Given the description of an element on the screen output the (x, y) to click on. 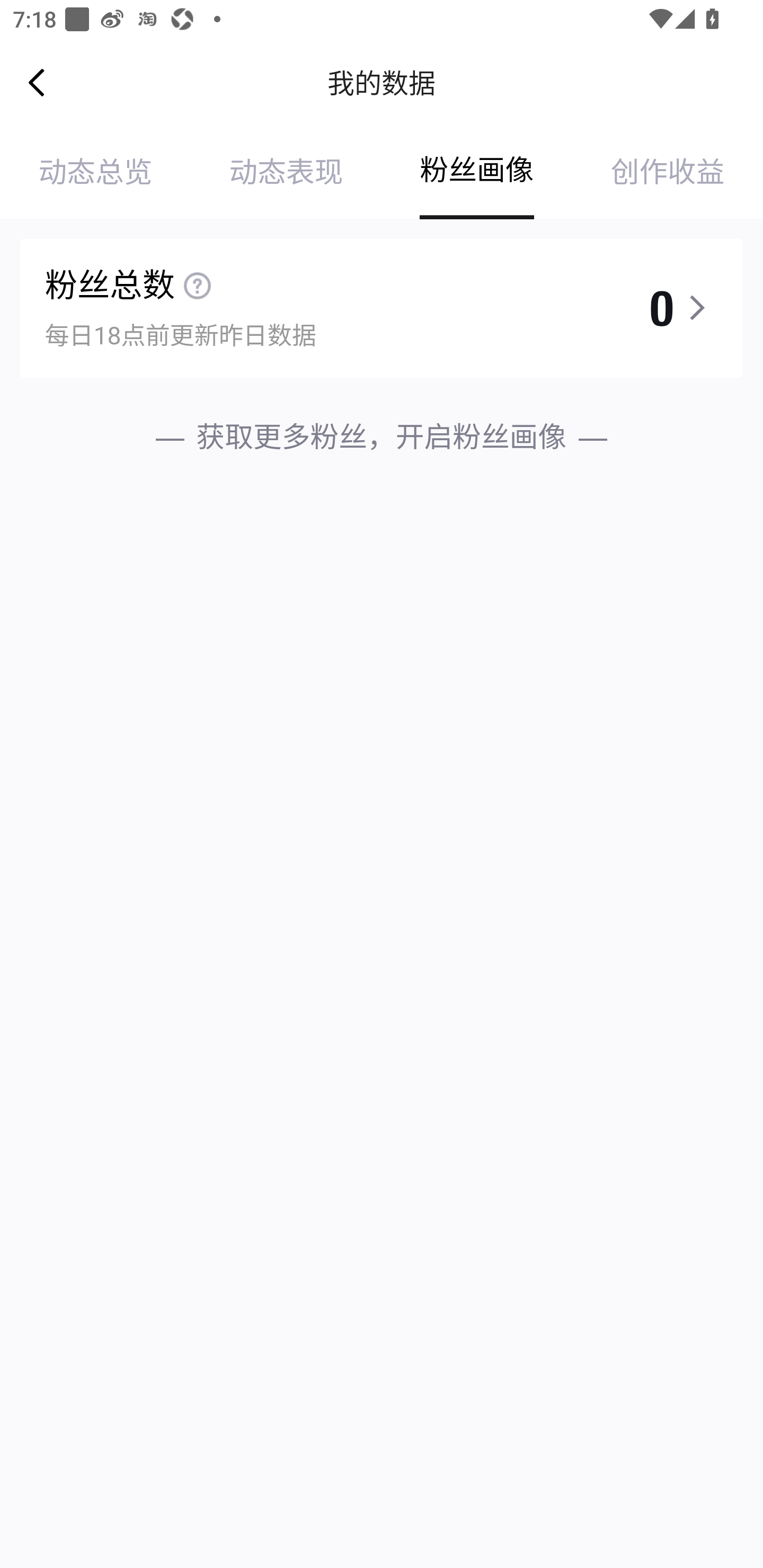
Navigate up (36, 82)
动态总览 (95, 173)
动态表现 (285, 173)
粉丝画像 (476, 173)
创作收益 (667, 173)
